Given the description of an element on the screen output the (x, y) to click on. 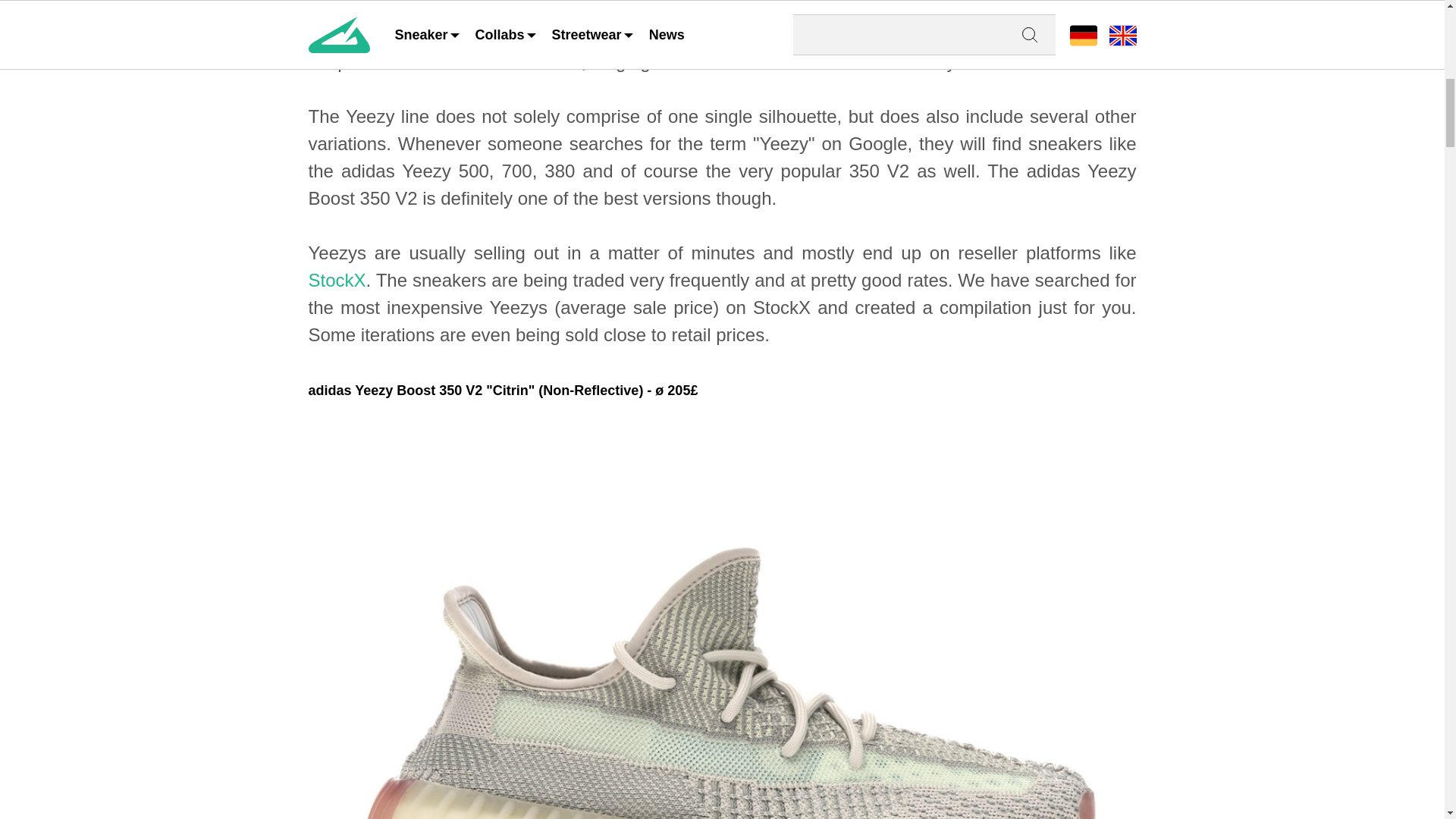
release calendar (514, 61)
StockX (336, 280)
Kanye West (508, 8)
